Given the description of an element on the screen output the (x, y) to click on. 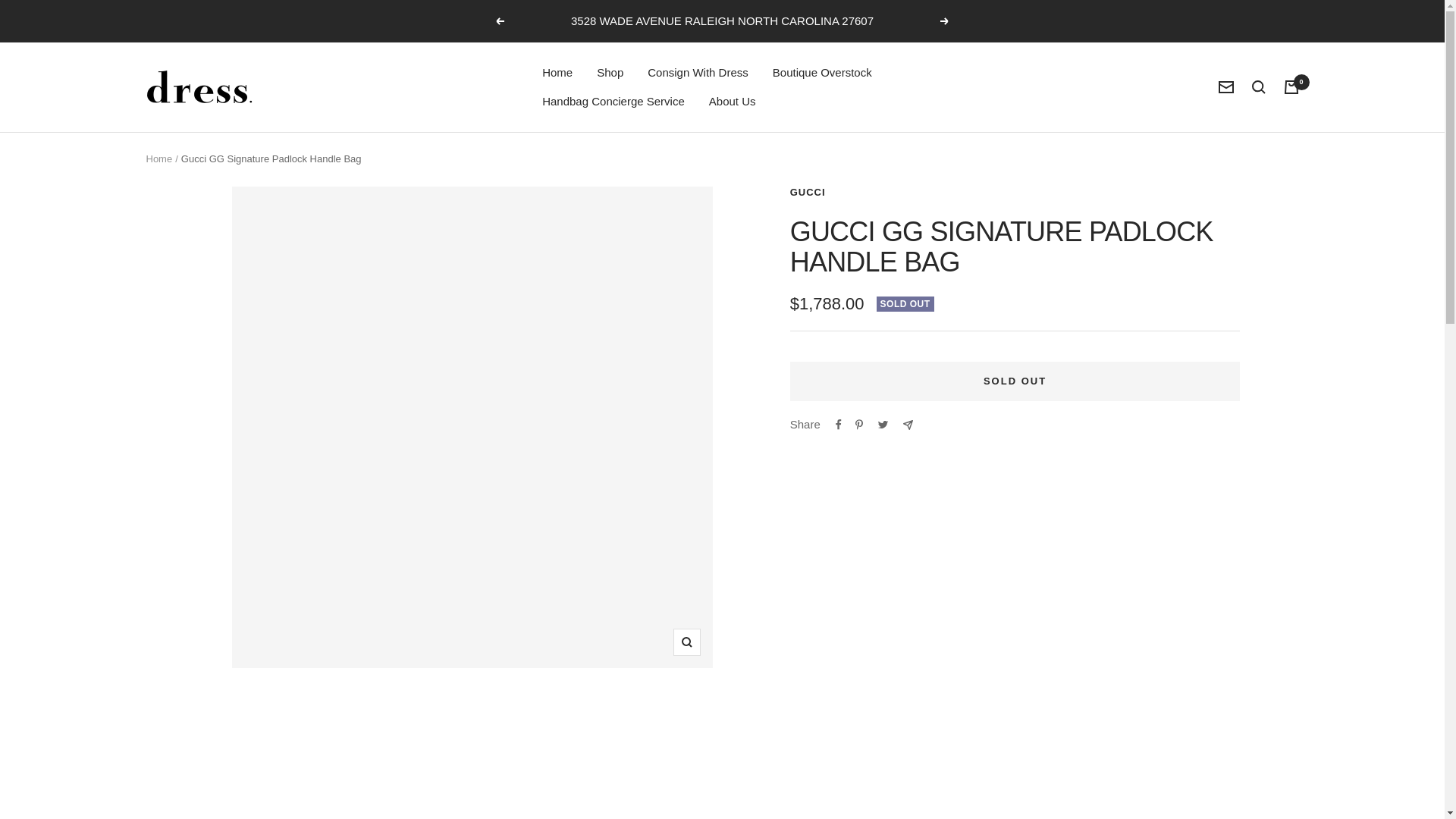
Newsletter (1225, 87)
Handbag Concierge Service (612, 101)
Home (556, 72)
Dress Raleigh (198, 86)
Previous (499, 21)
Home (158, 158)
Shop (609, 72)
Next (944, 21)
Zoom (686, 642)
0 (1291, 87)
Consign With Dress (697, 72)
Boutique Overstock (822, 72)
About Us (732, 101)
GUCCI (807, 192)
